Given the description of an element on the screen output the (x, y) to click on. 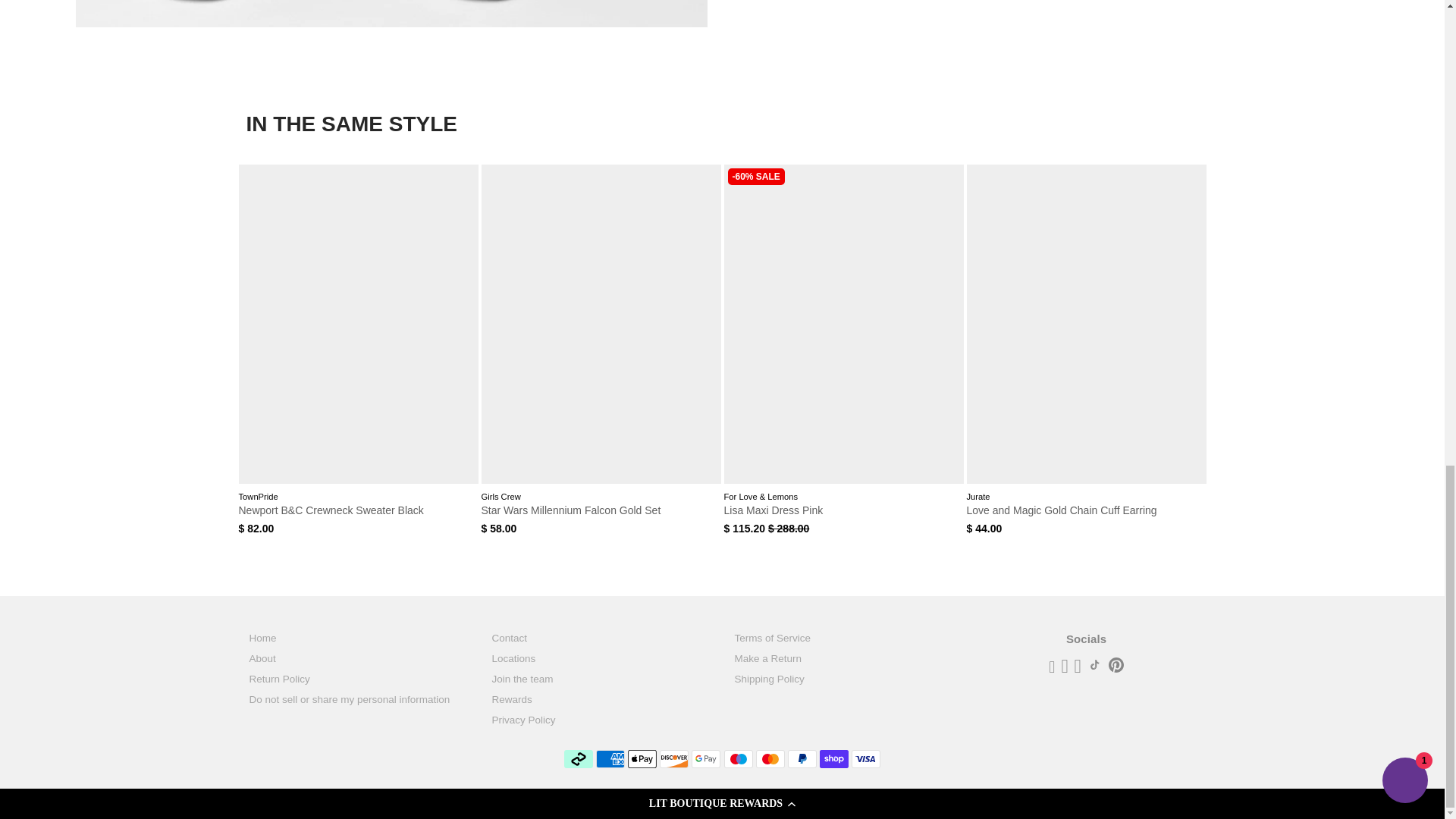
Visa (865, 759)
Afterpay (578, 759)
PayPal (801, 759)
Mastercard (769, 759)
Shop Pay (833, 759)
Maestro (737, 759)
Apple Pay (641, 759)
Discover (673, 759)
American Express (609, 759)
Google Pay (705, 759)
